Given the description of an element on the screen output the (x, y) to click on. 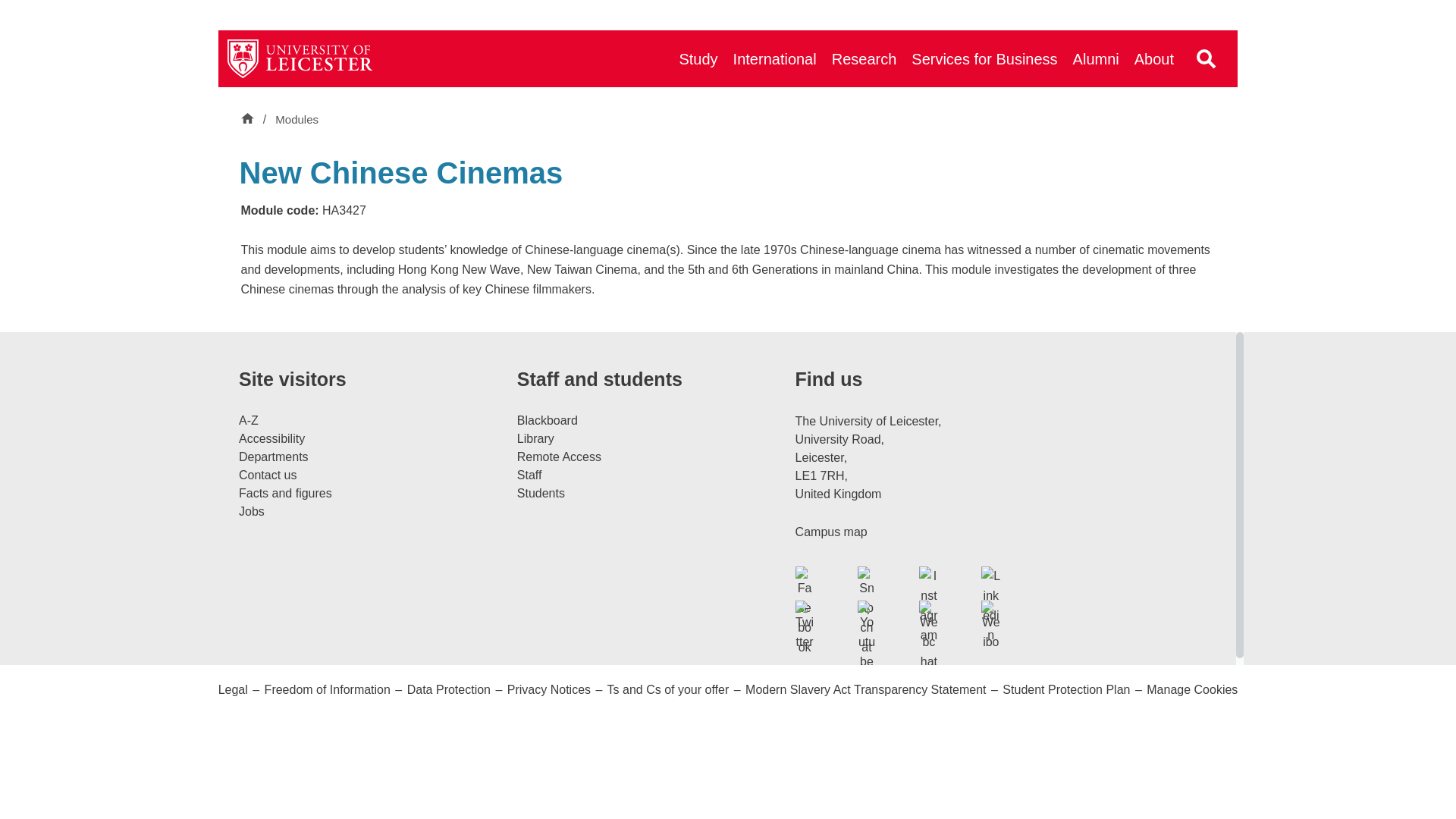
Modules (296, 119)
Return to homepage (300, 58)
Study (698, 58)
Home (249, 119)
